Given the description of an element on the screen output the (x, y) to click on. 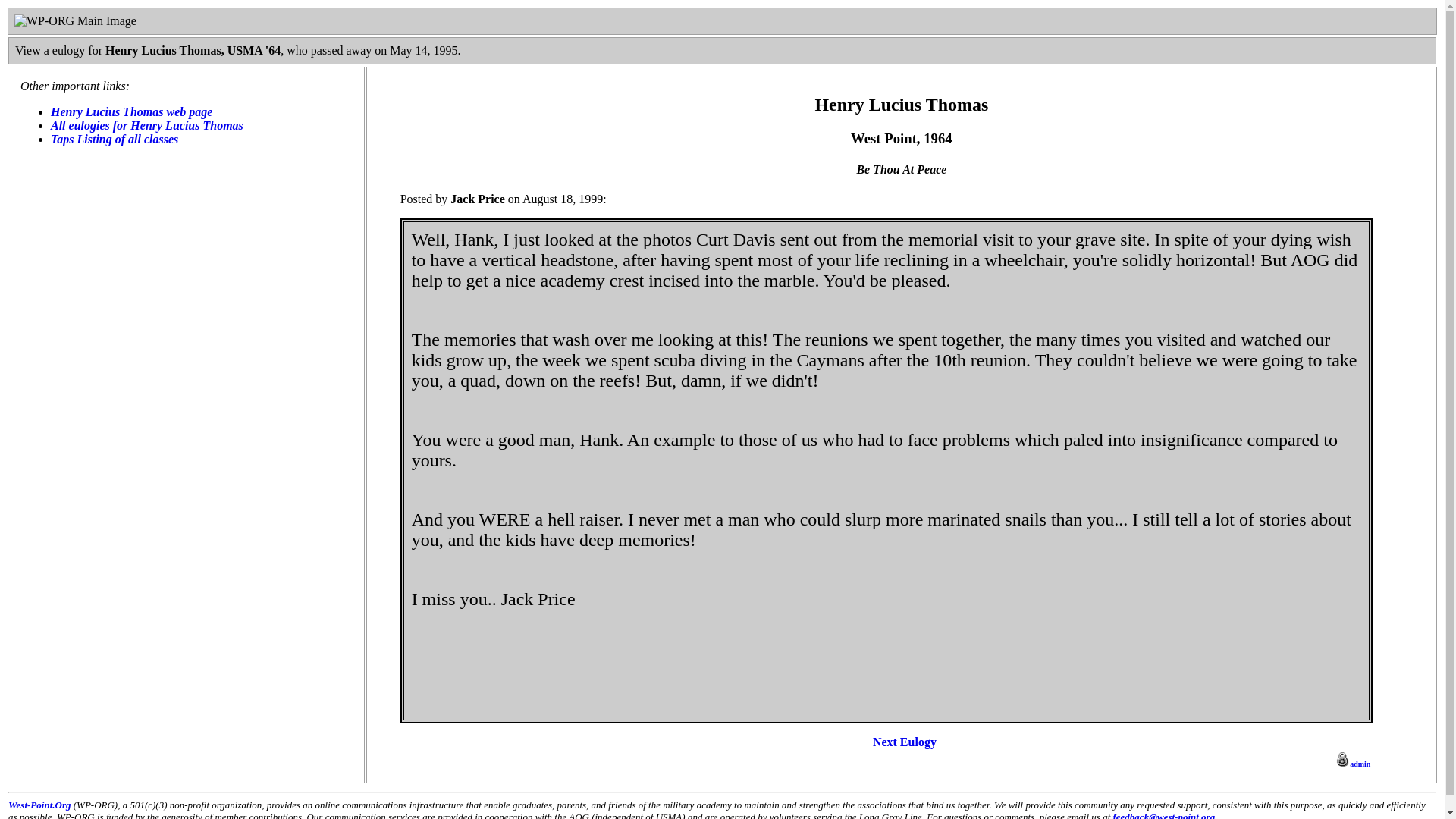
admin (1352, 762)
Taps Listing of all classes (113, 138)
All eulogies for Henry Lucius Thomas (146, 124)
Next Eulogy (904, 741)
Henry Lucius Thomas web page (131, 111)
West-Point.Org (38, 804)
